Given the description of an element on the screen output the (x, y) to click on. 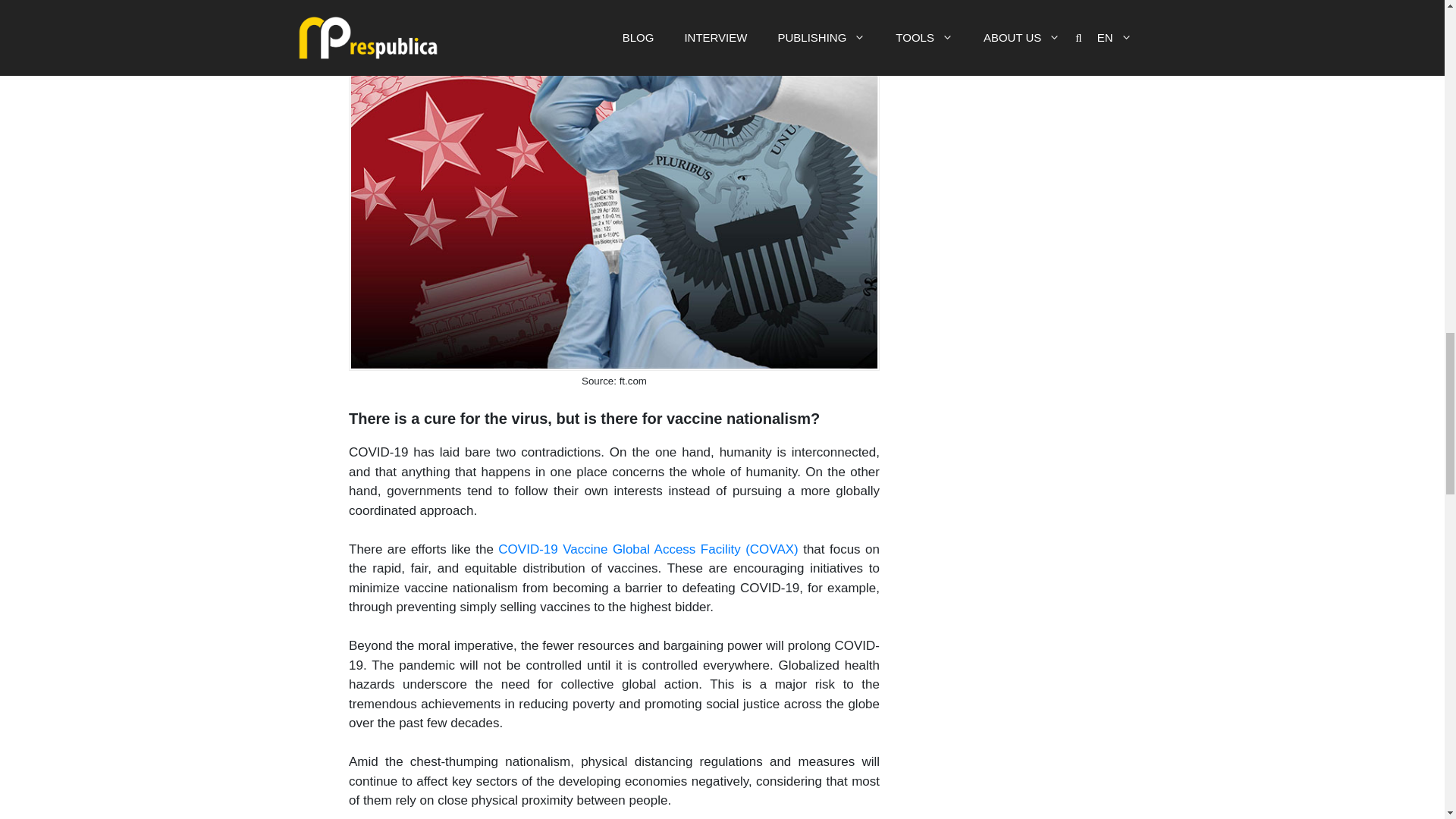
affordable versions of the vaccines (772, 21)
